Given the description of an element on the screen output the (x, y) to click on. 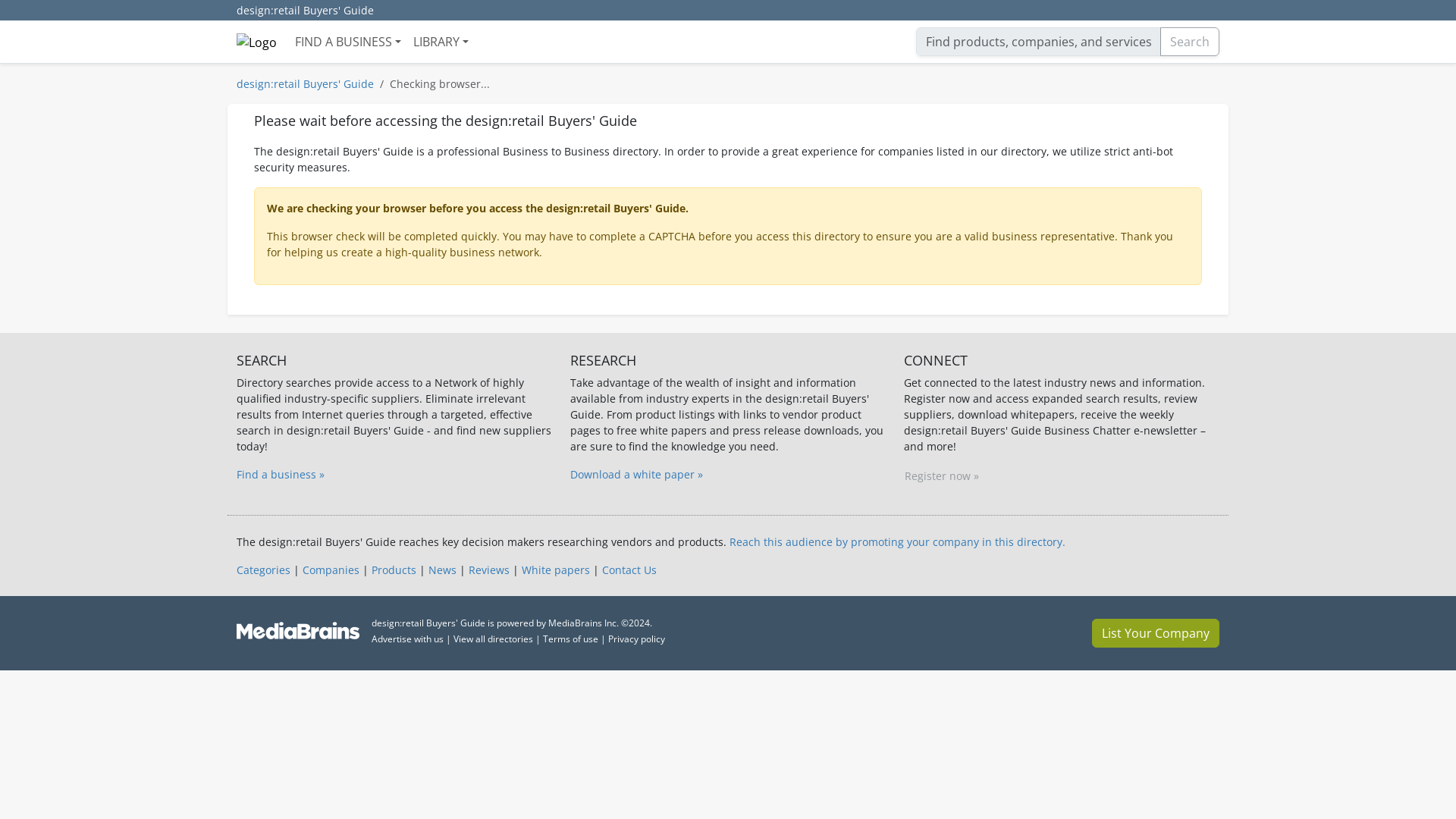
design:retail Buyers' Guide (304, 83)
design:retail Buyers' Guide (304, 10)
FIND A BUSINESS (347, 41)
Products (393, 569)
Advertise with us (407, 638)
Contact Us (629, 569)
Search (1190, 41)
Terms of use (570, 638)
Reviews (488, 569)
Privacy policy (636, 638)
